Given the description of an element on the screen output the (x, y) to click on. 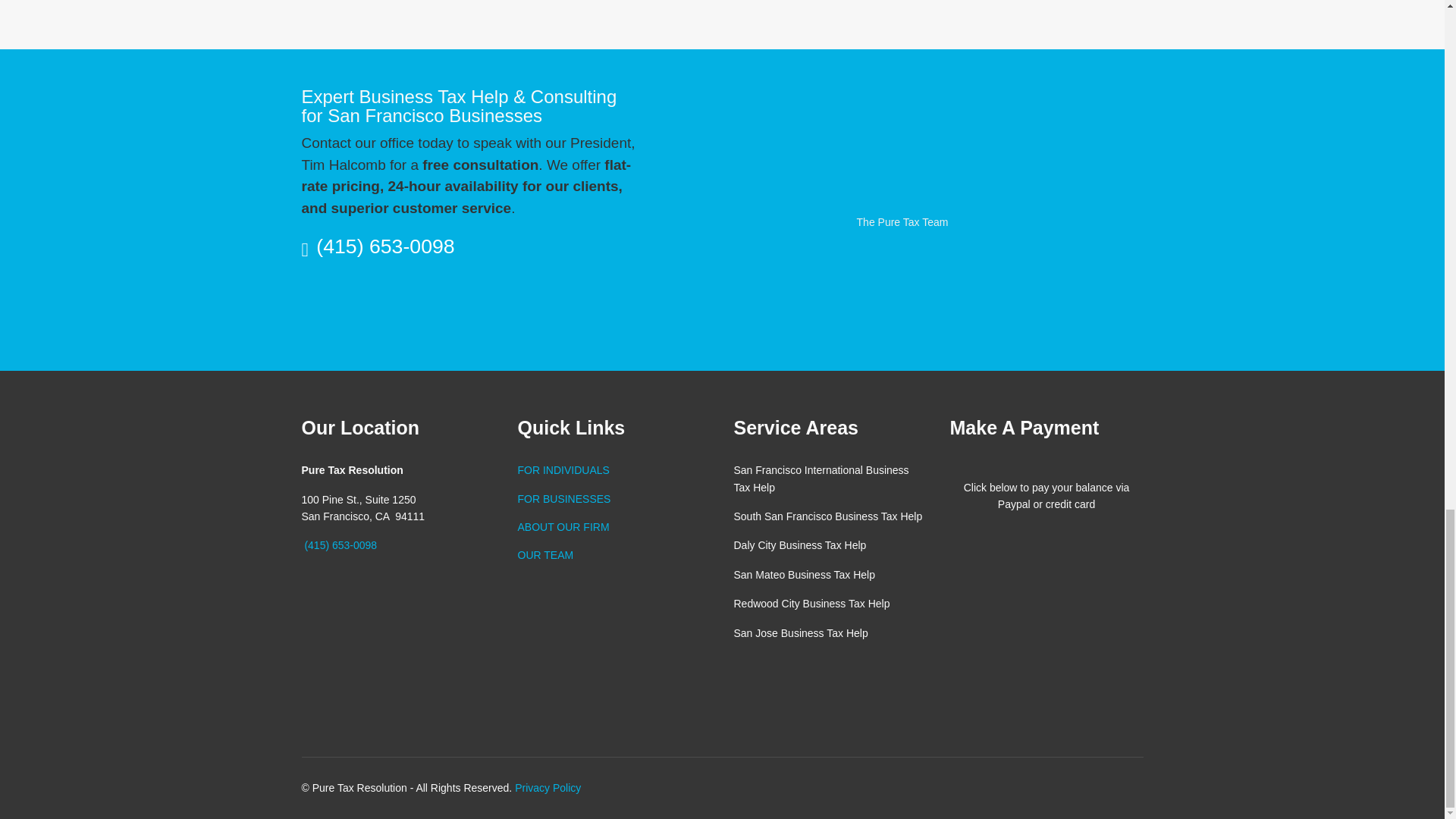
FOR BUSINESSES (613, 498)
FOR INDIVIDUALS (613, 469)
OUR TEAM (613, 555)
Privacy Policy (547, 787)
ABOUT OUR FIRM (613, 526)
